Given the description of an element on the screen output the (x, y) to click on. 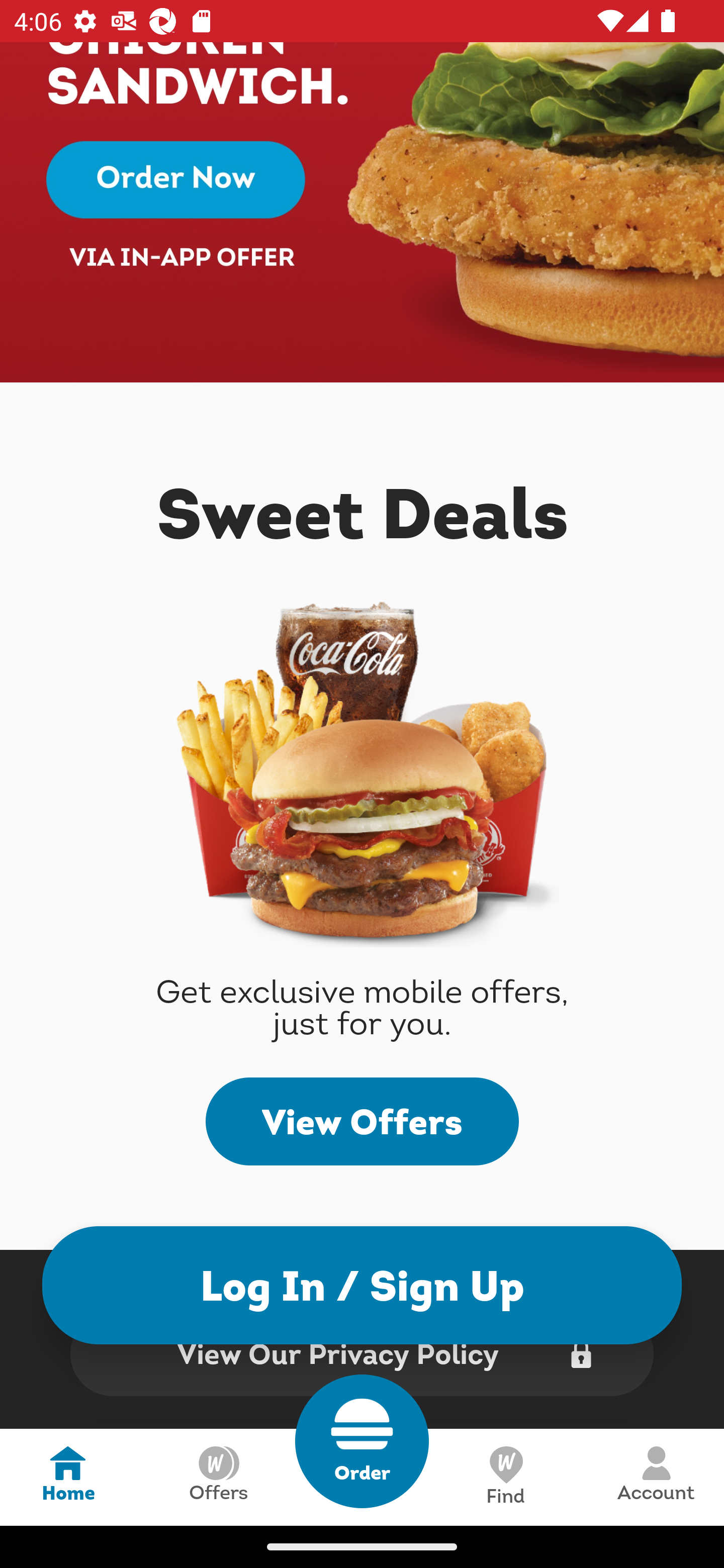
Campaign image (362, 212)
View Offers (362, 1121)
Log In / Sign Up (361, 1284)
Order,3 of 5 Order (361, 1441)
Home,1 of 5 Home (68, 1476)
Rewards,2 of 5 Offers Offers (218, 1476)
Scan,4 of 5 Find Find (505, 1476)
Account,5 of 5 Account (655, 1476)
